Given the description of an element on the screen output the (x, y) to click on. 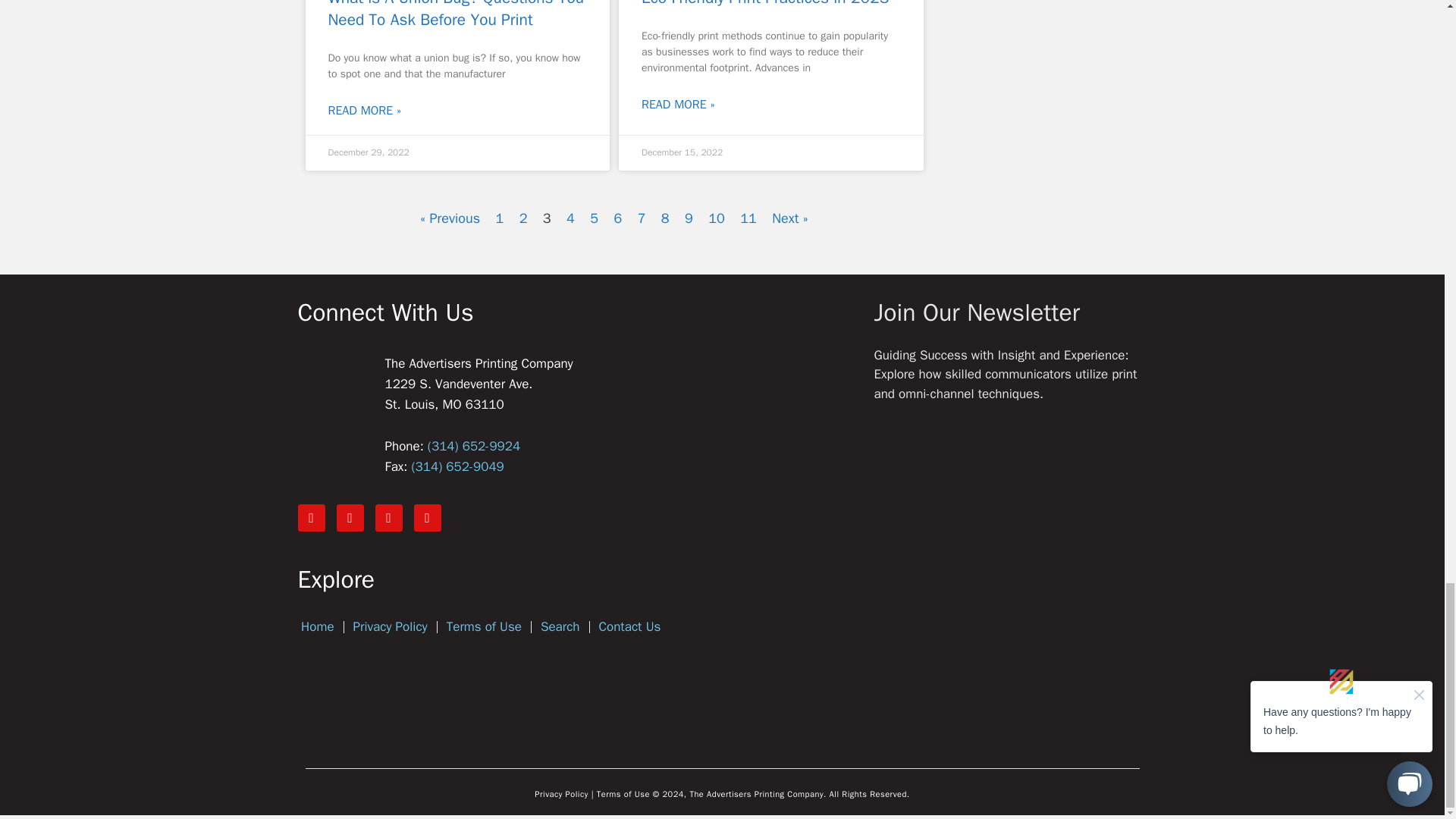
Form 1 (1010, 590)
